Given the description of an element on the screen output the (x, y) to click on. 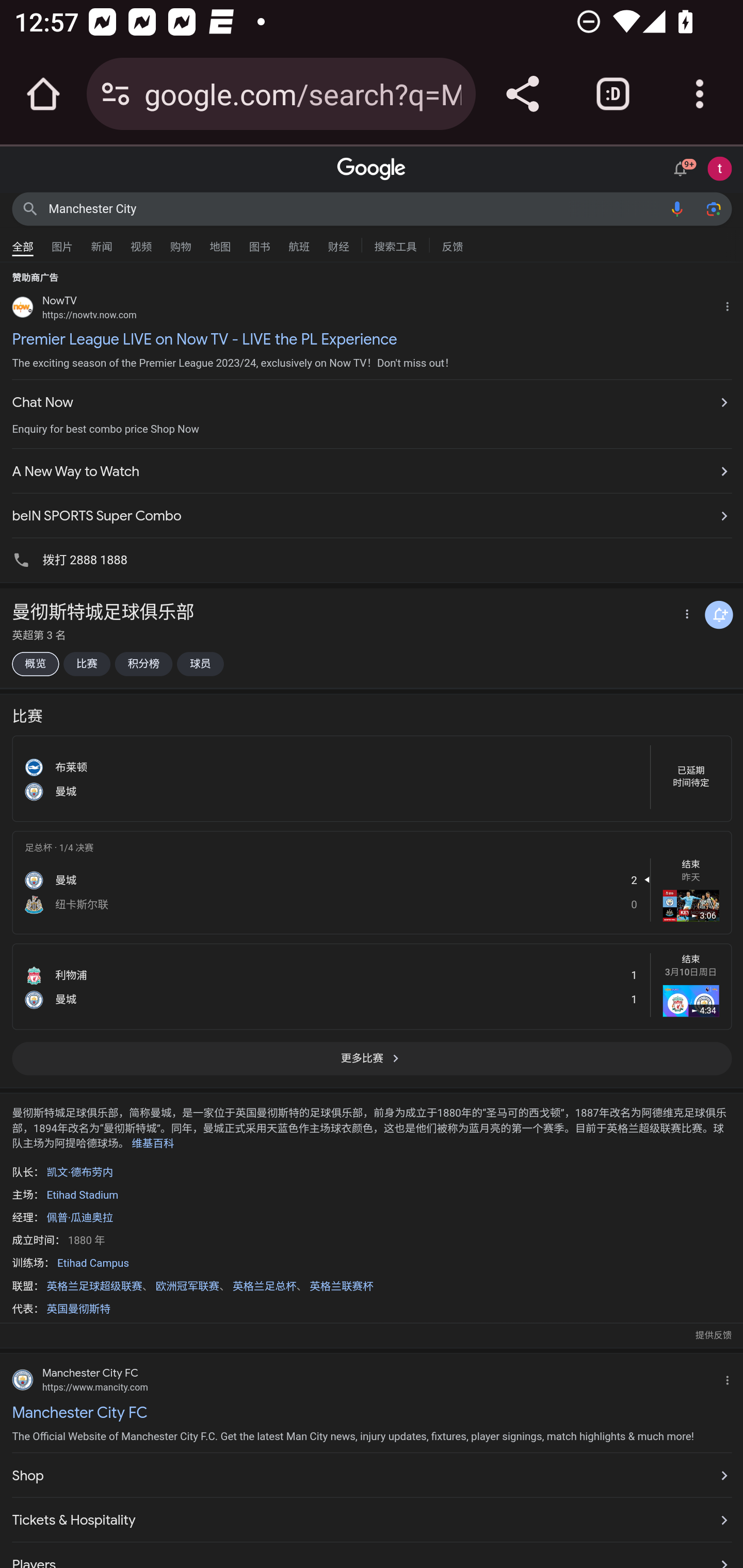
Open the home page (43, 93)
Connection is secure (115, 93)
Share (522, 93)
Switch or close tabs (612, 93)
Customize and control Google Chrome (699, 93)
Google (371, 169)
有 9 条以上的新通知 (683, 166)
Google 账号： test appium (testappium002@gmail.com) (719, 168)
Google 搜索 (29, 208)
使用拍照功能或照片进行搜索 (712, 208)
Manchester City (353, 208)
图片 (62, 241)
新闻 (101, 241)
视频 (141, 241)
购物 (180, 241)
地图 (219, 241)
图书 (259, 241)
航班 (299, 241)
财经 (338, 241)
搜索工具 (395, 244)
反馈 (452, 244)
为什么会显示该广告？ (731, 303)
A New Way to Watch (371, 471)
beIN SPORTS Super Combo (371, 510)
拨打 2888 1888 (371, 559)
接收关于“曼彻斯特城足球俱乐部”的通知 (718, 615)
更多选项 (685, 614)
概览 (34, 664)
比赛 (86, 664)
积分榜 (143, 664)
球员 (199, 664)
已延期 时间待定 布莱顿 曼城 已延期 时间待定 已延期 时间待定 布莱顿 布莱顿 曼城 曼城 (371, 777)
更多比赛 (371, 1063)
维基百科 (152, 1142)
凯文·德布劳内 (79, 1171)
Etihad Stadium (82, 1194)
佩普·瓜迪奥拉 (79, 1217)
Etihad Campus (92, 1262)
英格兰足球超级联赛 (94, 1285)
欧洲冠军联赛 (186, 1285)
英格兰足总杯 (263, 1285)
英格兰联赛杯 (340, 1285)
英国曼彻斯特 (78, 1308)
提供反馈 (713, 1335)
Manchester City FC (371, 1412)
Shop (371, 1476)
Tickets & Hospitality (371, 1520)
